Given the description of an element on the screen output the (x, y) to click on. 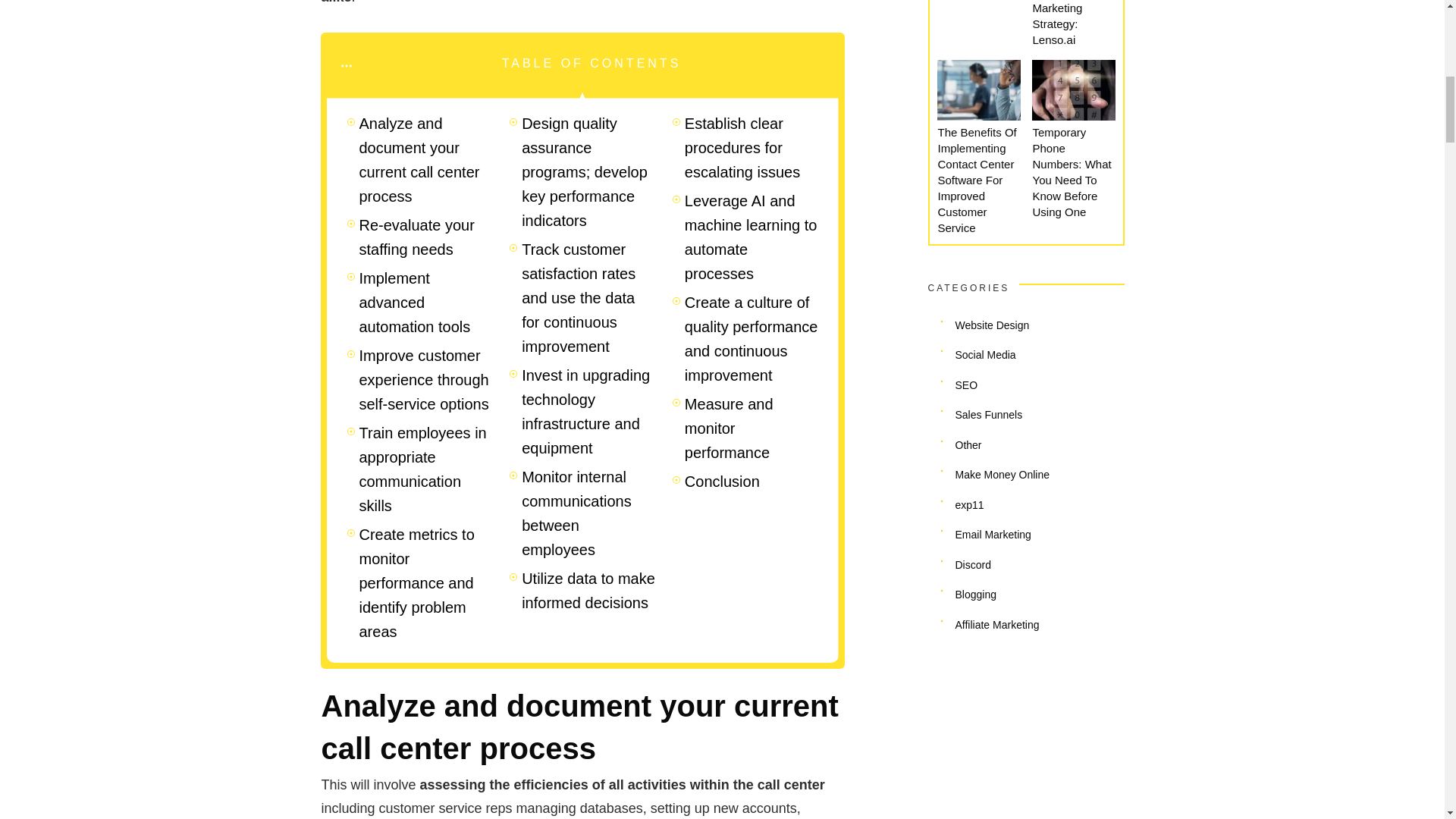
Invest in upgrading technology infrastructure and equipment (588, 411)
Implement advanced automation tools (426, 302)
Improve customer experience through self-service options (426, 379)
Implement advanced automation tools (426, 302)
Analyze and document your current call center process (426, 159)
Establish clear procedures for escalating issues (751, 147)
